Given the description of an element on the screen output the (x, y) to click on. 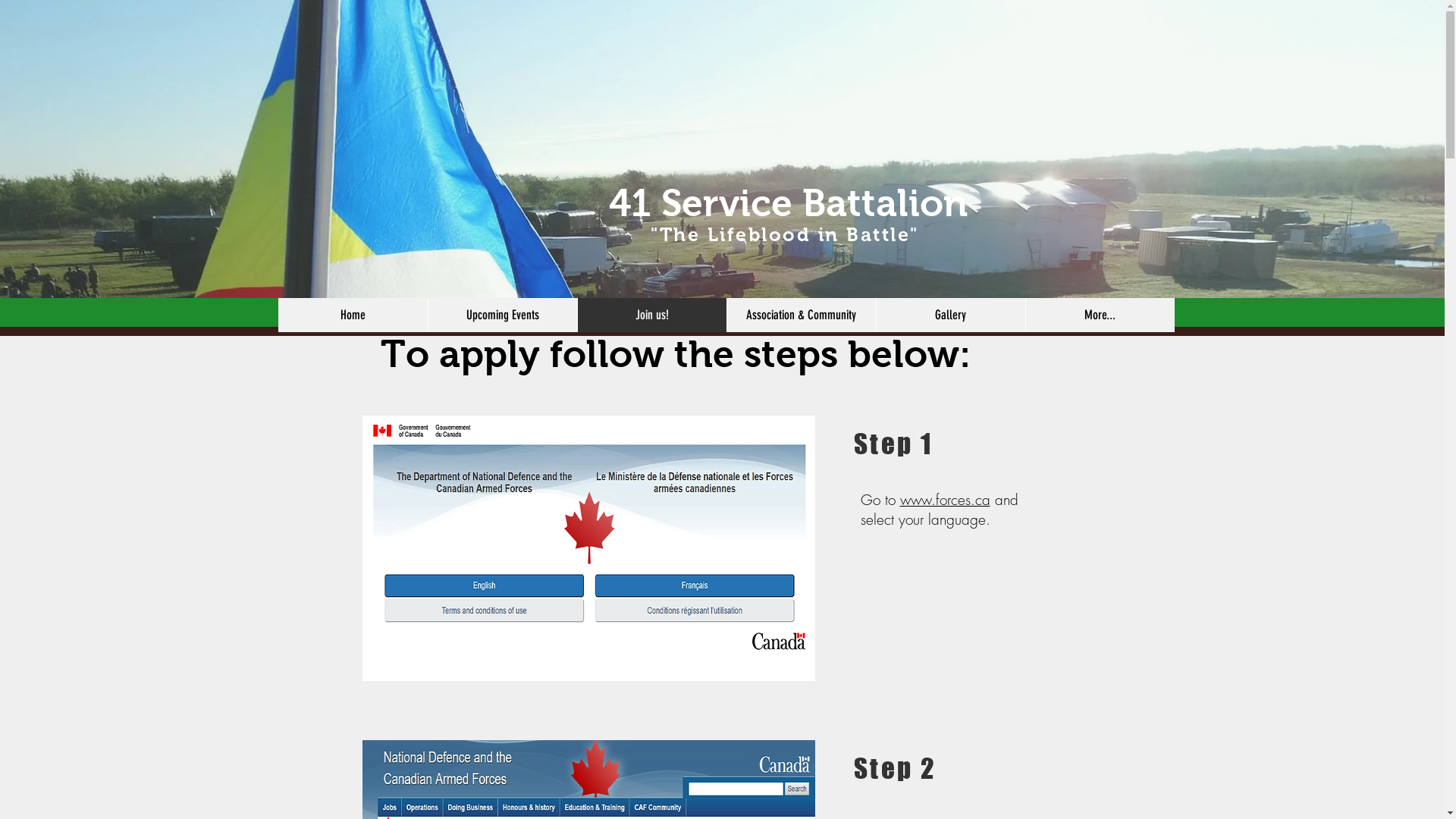
Home Element type: text (351, 315)
www.forces.ca Element type: text (944, 499)
Join us! Element type: text (650, 315)
41 Service Battalion Element type: text (787, 202)
Gallery Element type: text (949, 315)
Association & Community Element type: text (800, 315)
Upcoming Events Element type: text (502, 315)
